Given the description of an element on the screen output the (x, y) to click on. 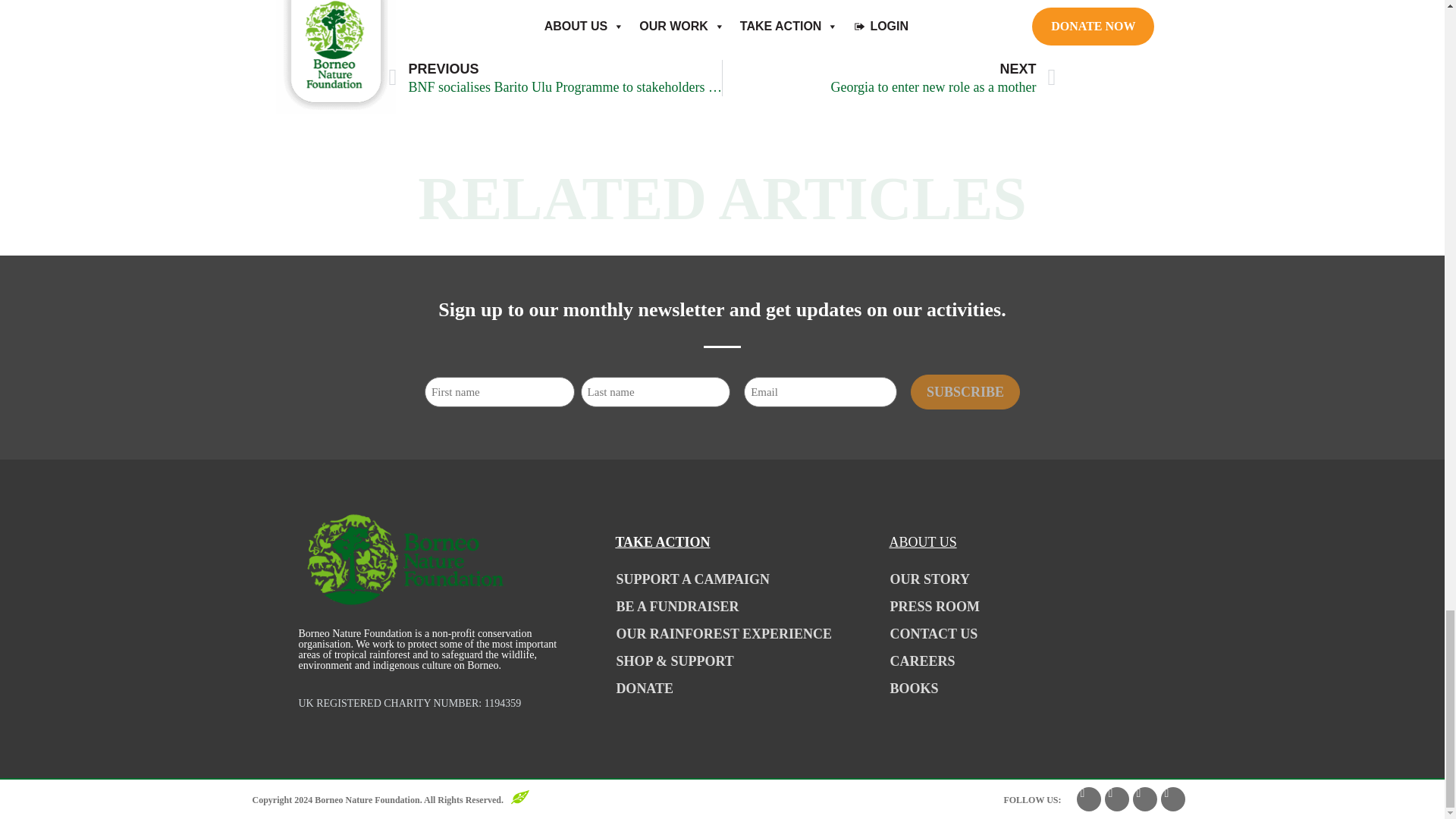
Subscribe (965, 391)
